Given the description of an element on the screen output the (x, y) to click on. 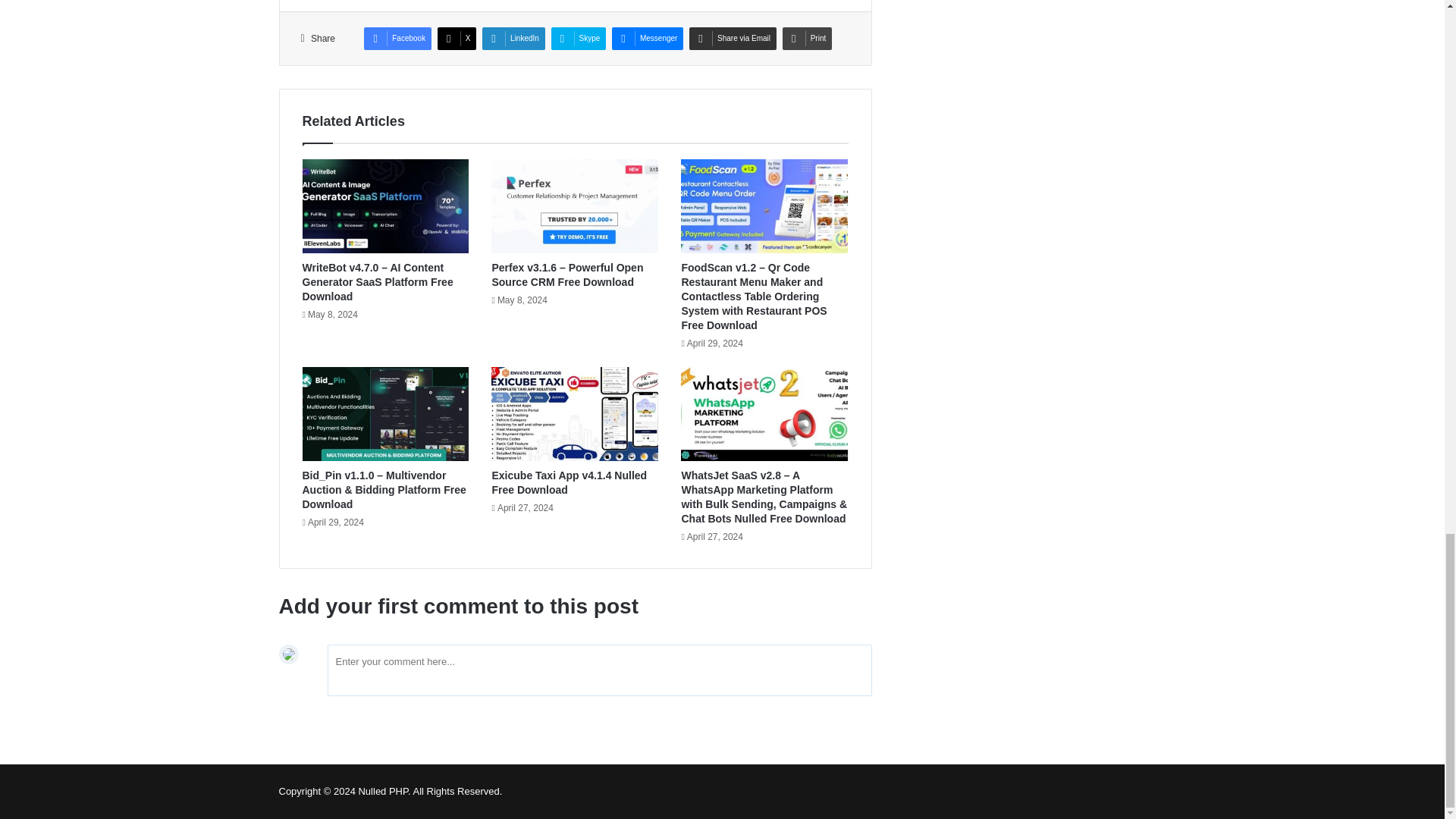
Facebook (397, 38)
X (457, 38)
Messenger (646, 38)
LinkedIn (512, 38)
Skype (579, 38)
